Given the description of an element on the screen output the (x, y) to click on. 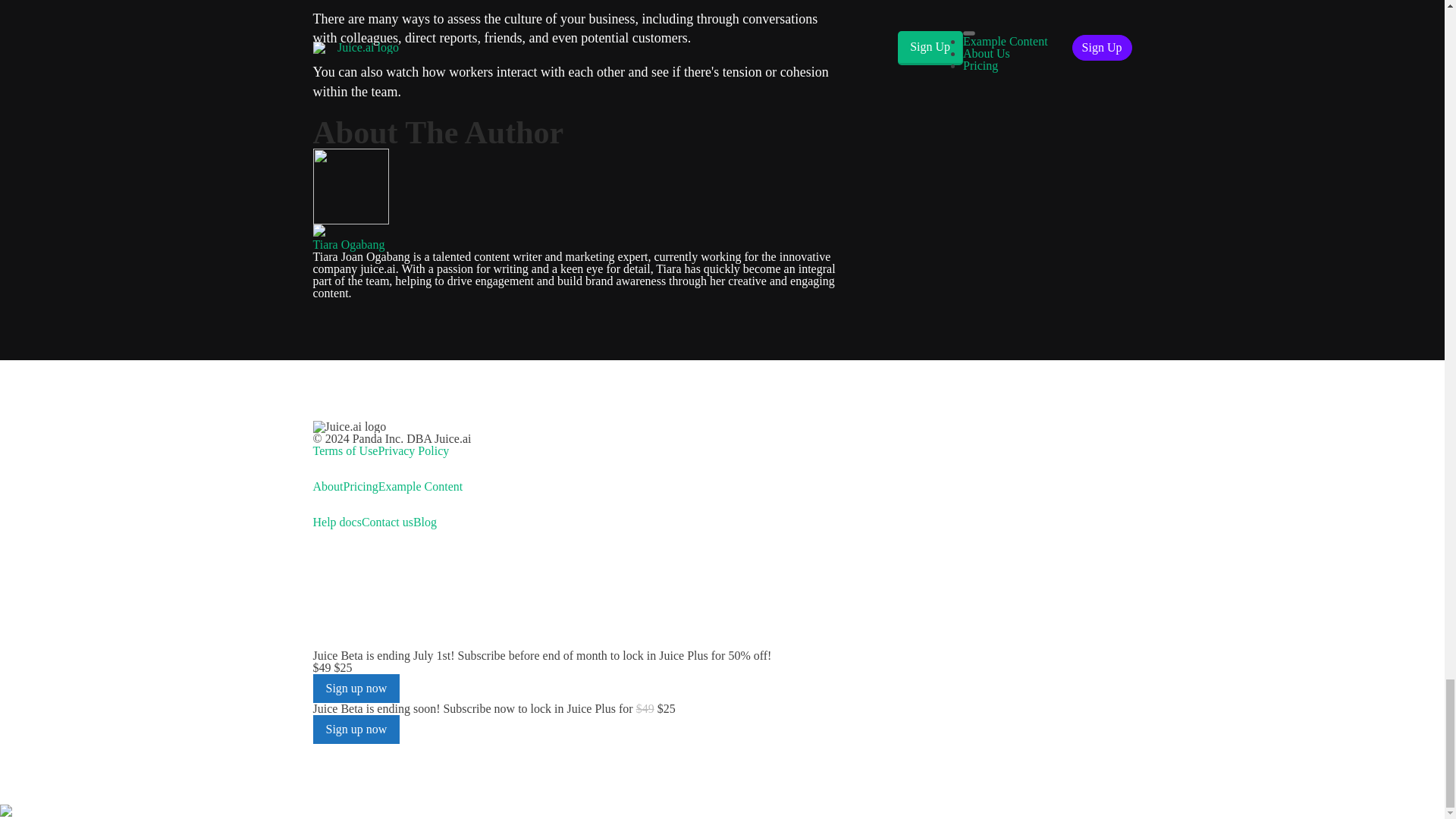
Privacy Policy (412, 451)
Tiara Ogabang (348, 244)
Terms of Use (345, 451)
